Given the description of an element on the screen output the (x, y) to click on. 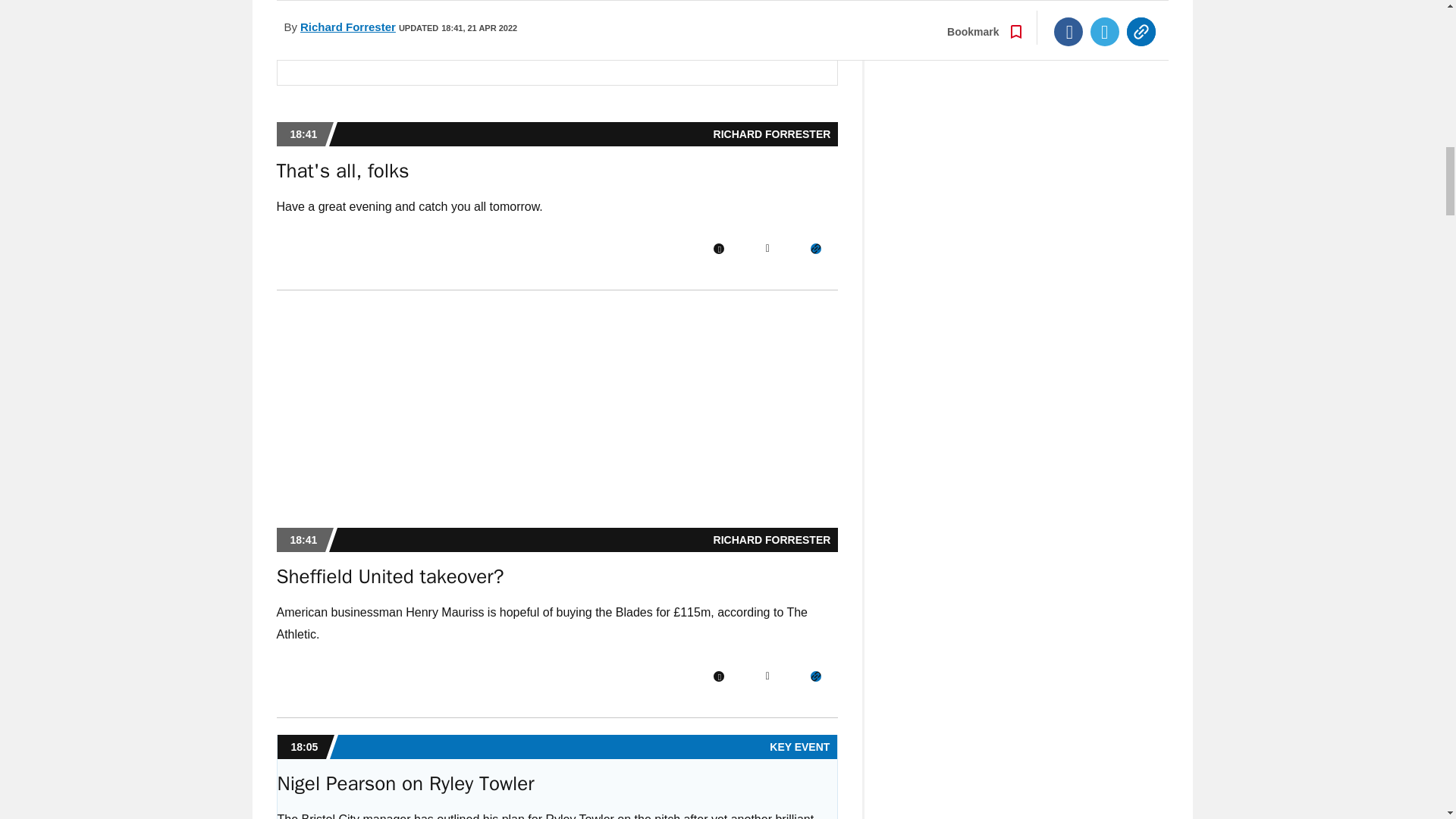
Twitter (767, 248)
Facebook (718, 248)
Twitter (767, 675)
Facebook (718, 675)
